Given the description of an element on the screen output the (x, y) to click on. 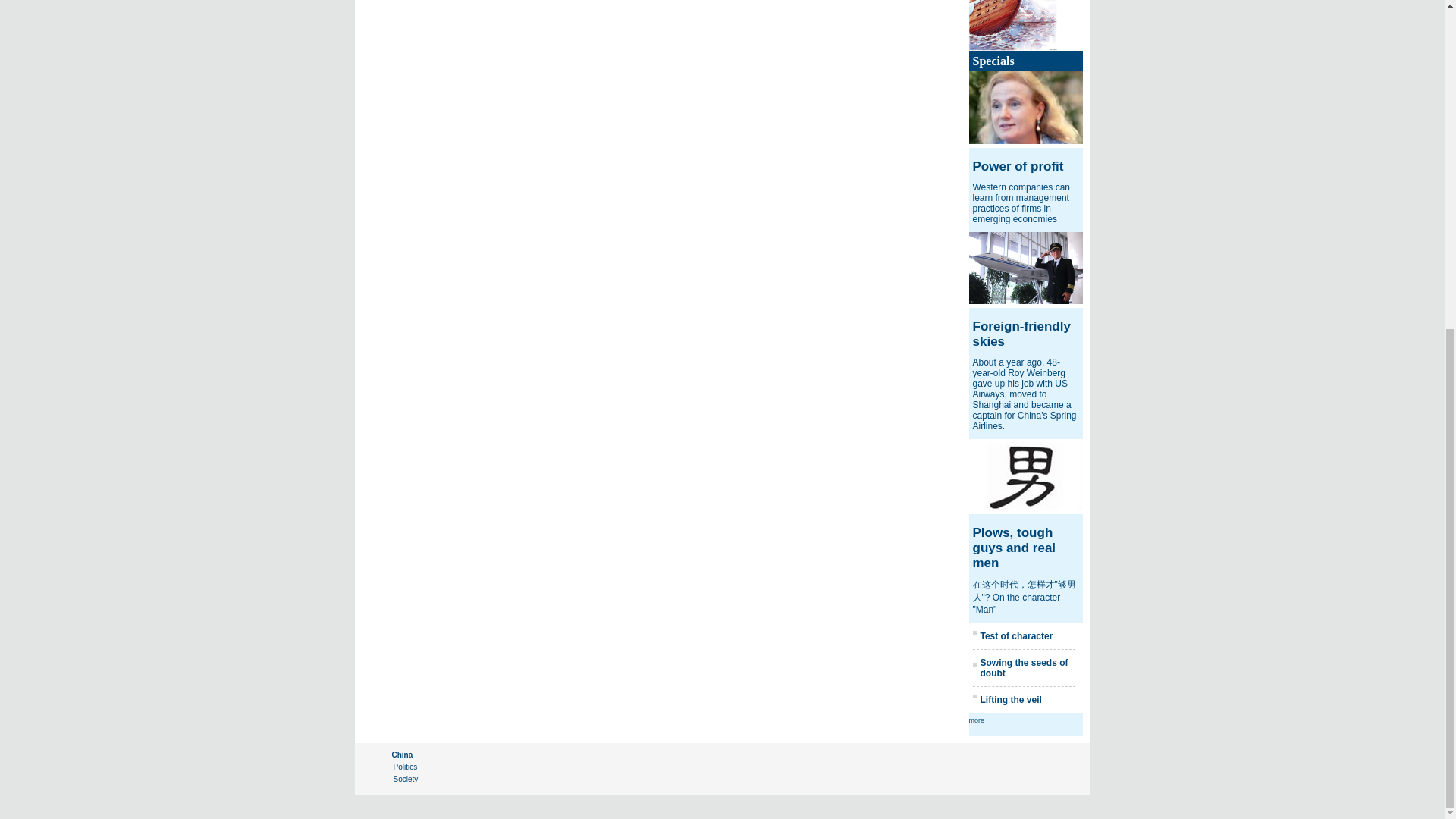
Sowing the seeds of doubt (1023, 667)
Lifting the veil (1010, 699)
Power of profit (1017, 165)
Foreign-friendly skies (1021, 333)
Test of character (1015, 635)
more (977, 719)
Plows, tough guys and real men (1013, 547)
